Given the description of an element on the screen output the (x, y) to click on. 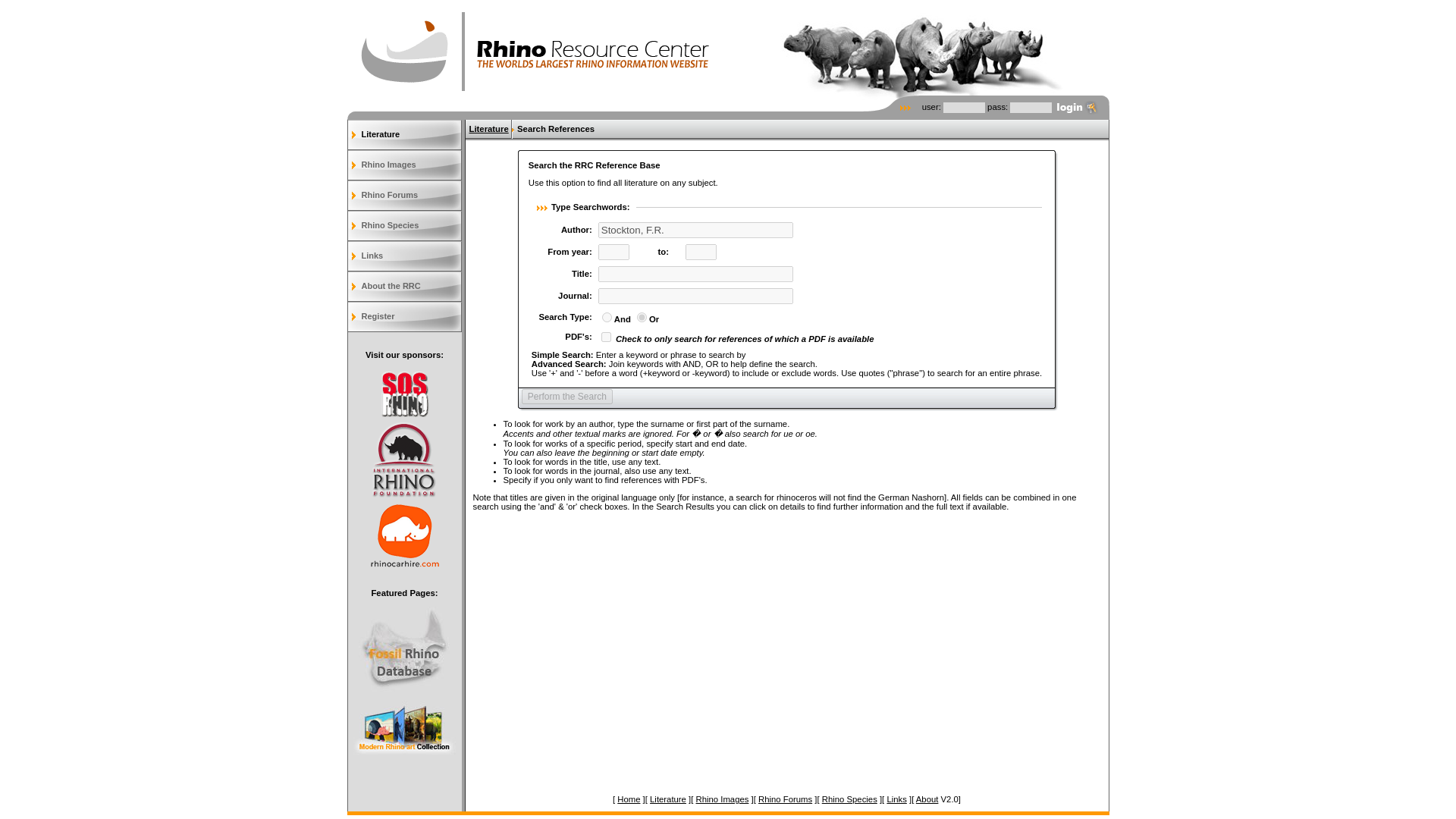
Links (895, 798)
Perform the Search (566, 396)
Stockton, F.R. (695, 229)
Literature (404, 134)
1 (606, 337)
Literature (488, 128)
Rhino Images (404, 164)
Modern Rhino Art Collection (404, 750)
and (606, 317)
Rhino Images (722, 798)
Rhino Forums (404, 195)
Rhino Species (404, 225)
or (641, 317)
About the RRC (404, 286)
Literature (667, 798)
